Given the description of an element on the screen output the (x, y) to click on. 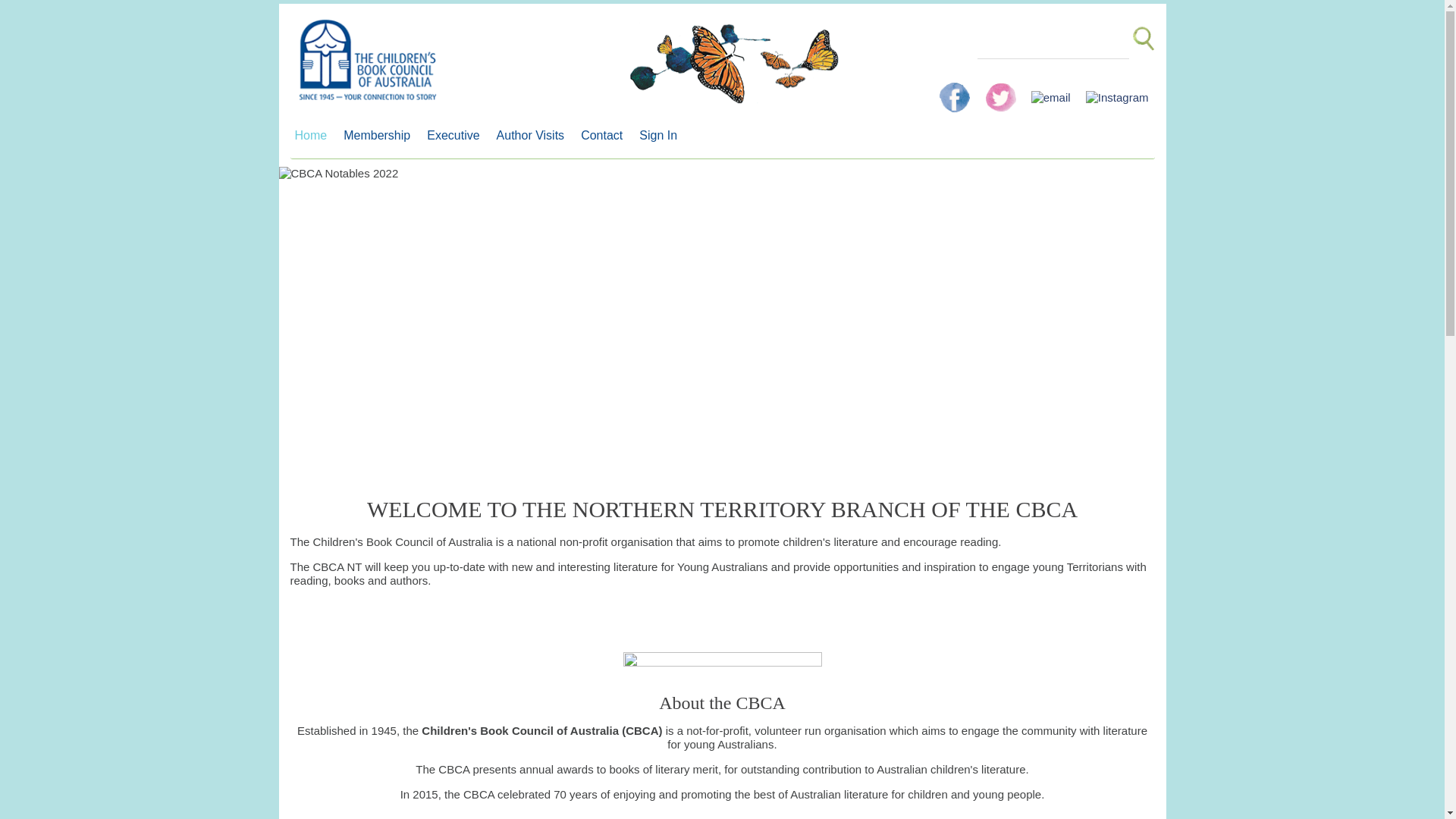
Email Element type: hover (1052, 90)
Executive Element type: text (456, 135)
Sign In Element type: text (661, 135)
Home Element type: text (313, 135)
Twitter @TheCBCA Element type: hover (1002, 90)
Membership Element type: text (380, 135)
Author Visits Element type: text (534, 135)
Facebook Element type: hover (956, 90)
Instagram Element type: hover (1116, 90)
Contact Element type: text (605, 135)
